Given the description of an element on the screen output the (x, y) to click on. 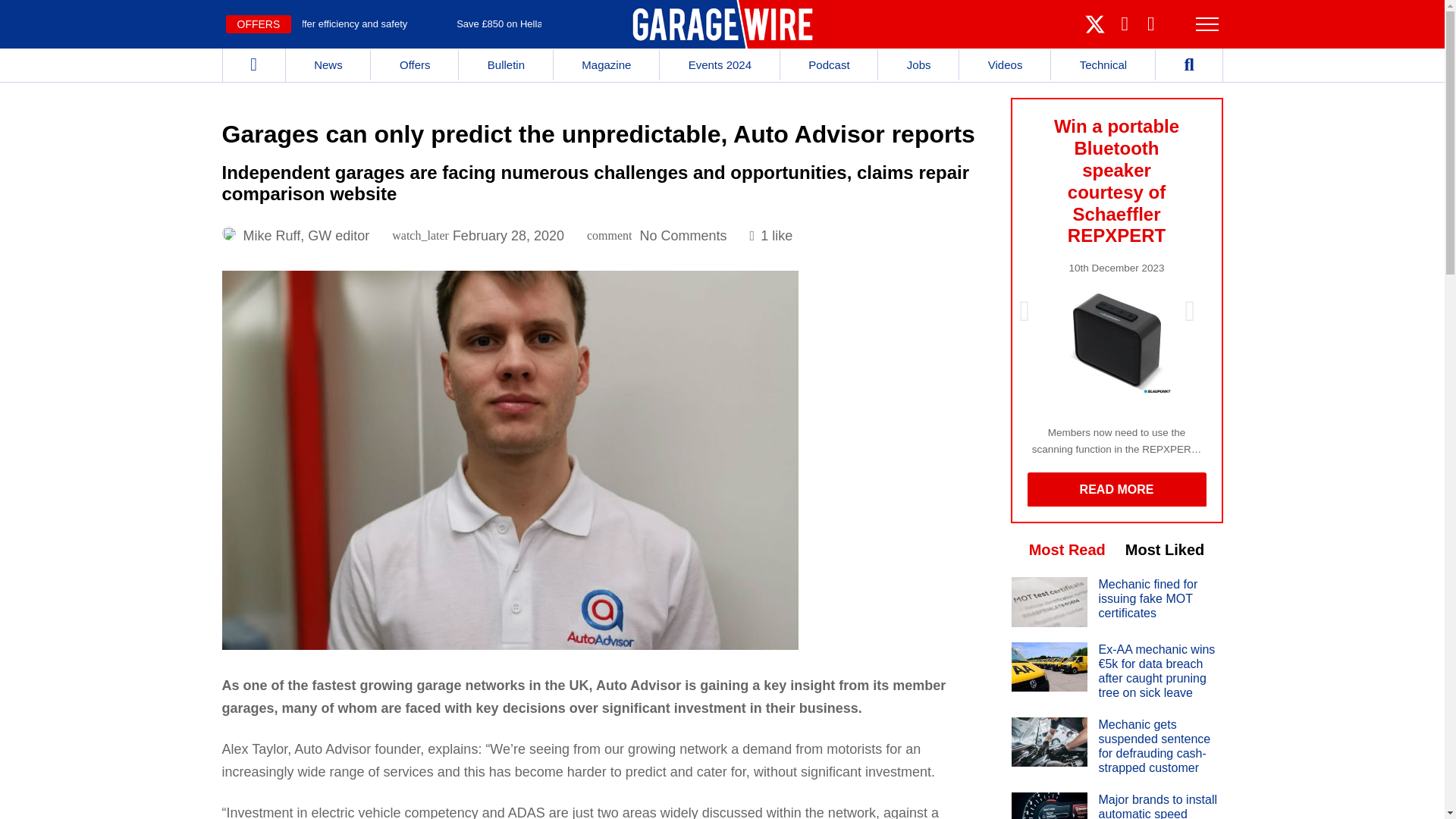
Jobs (918, 64)
News (328, 64)
No Comments (683, 235)
Bulletin (505, 64)
Podcast (828, 64)
Offers (414, 64)
Technical (1103, 64)
Magazine (606, 64)
Events 2024 (719, 64)
Mike Ruff, GW editor (306, 235)
Garage Wire (722, 24)
Videos (1005, 64)
Mechanic fined for issuing fake MOT certificates (1049, 622)
